Given the description of an element on the screen output the (x, y) to click on. 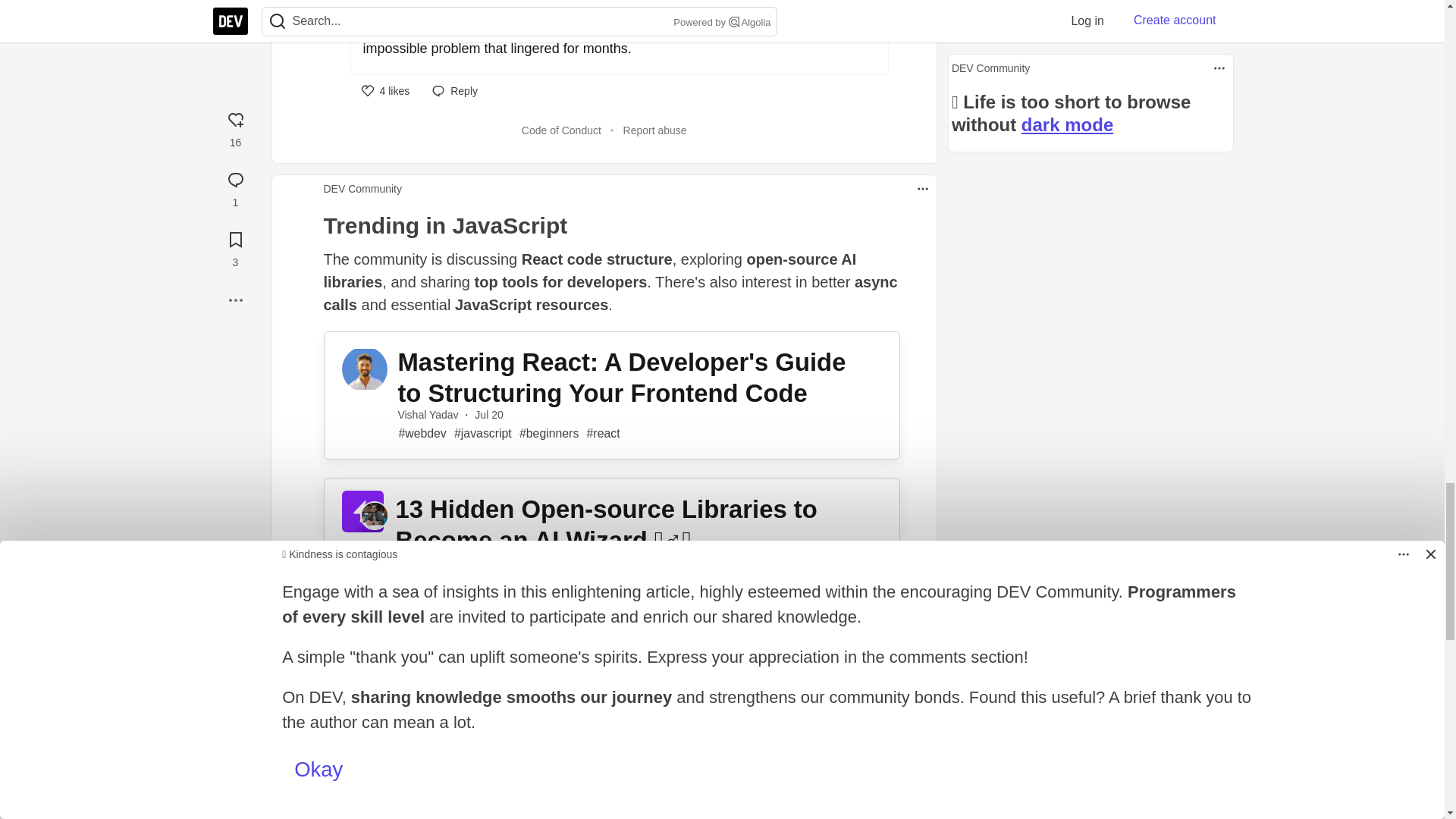
Dropdown menu (922, 188)
